Given the description of an element on the screen output the (x, y) to click on. 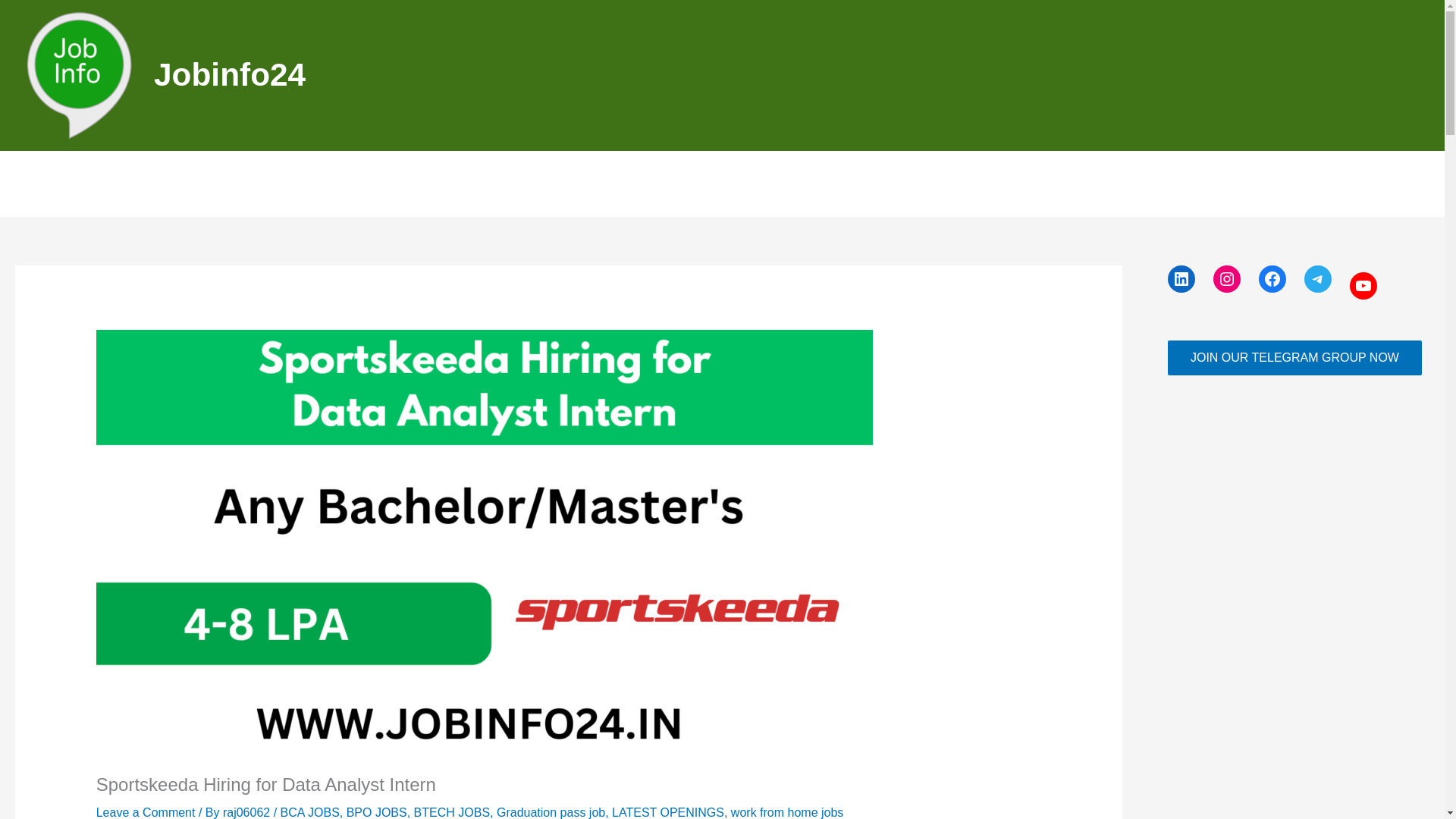
Leave a Comment (145, 812)
Graduation pass job (550, 812)
raj06062 (247, 812)
Jobinfo24 (229, 74)
BTECH JOBS (451, 812)
LATEST OPENINGS (667, 812)
BCA JOBS (310, 812)
BPO JOBS (376, 812)
View all posts by raj06062 (247, 812)
